Given the description of an element on the screen output the (x, y) to click on. 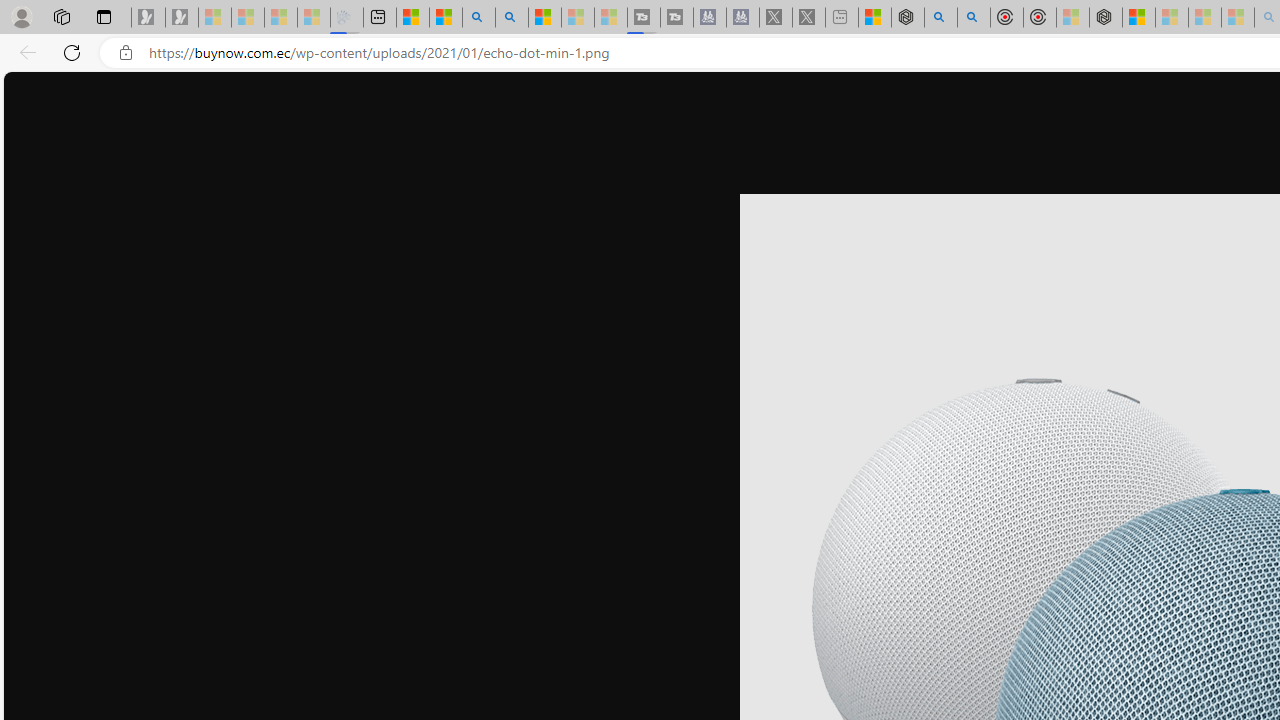
Newsletter Sign Up - Sleeping (182, 17)
Nordace - Summer Adventures 2024 (908, 17)
Nordace - Nordace Siena Is Not An Ordinary Backpack (1106, 17)
Search (511, 17)
poe - Search (941, 17)
Microsoft Start - Sleeping (577, 17)
Streaming Coverage | T3 - Sleeping (644, 17)
